Given the description of an element on the screen output the (x, y) to click on. 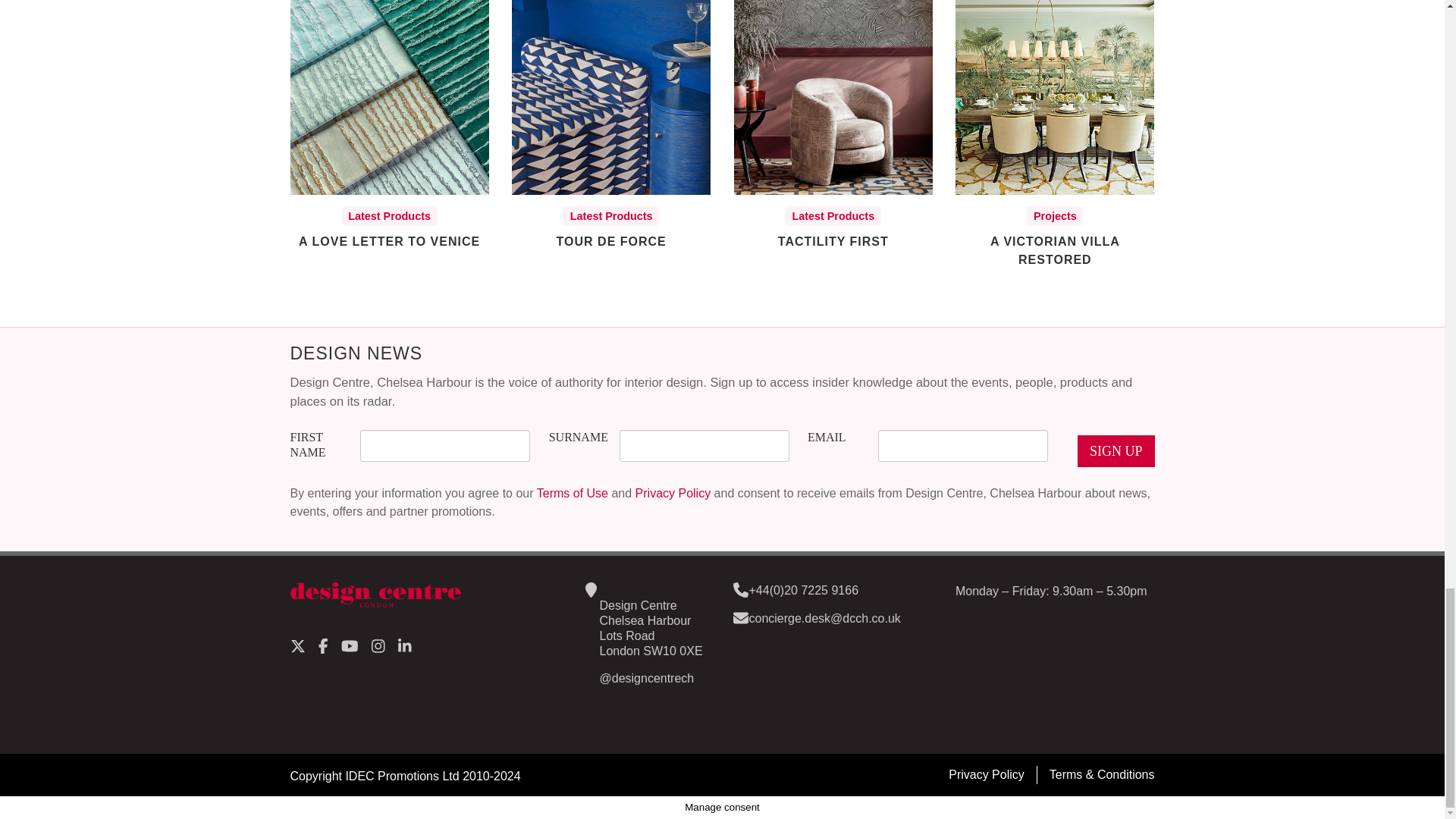
Sign up (1115, 450)
